Given the description of an element on the screen output the (x, y) to click on. 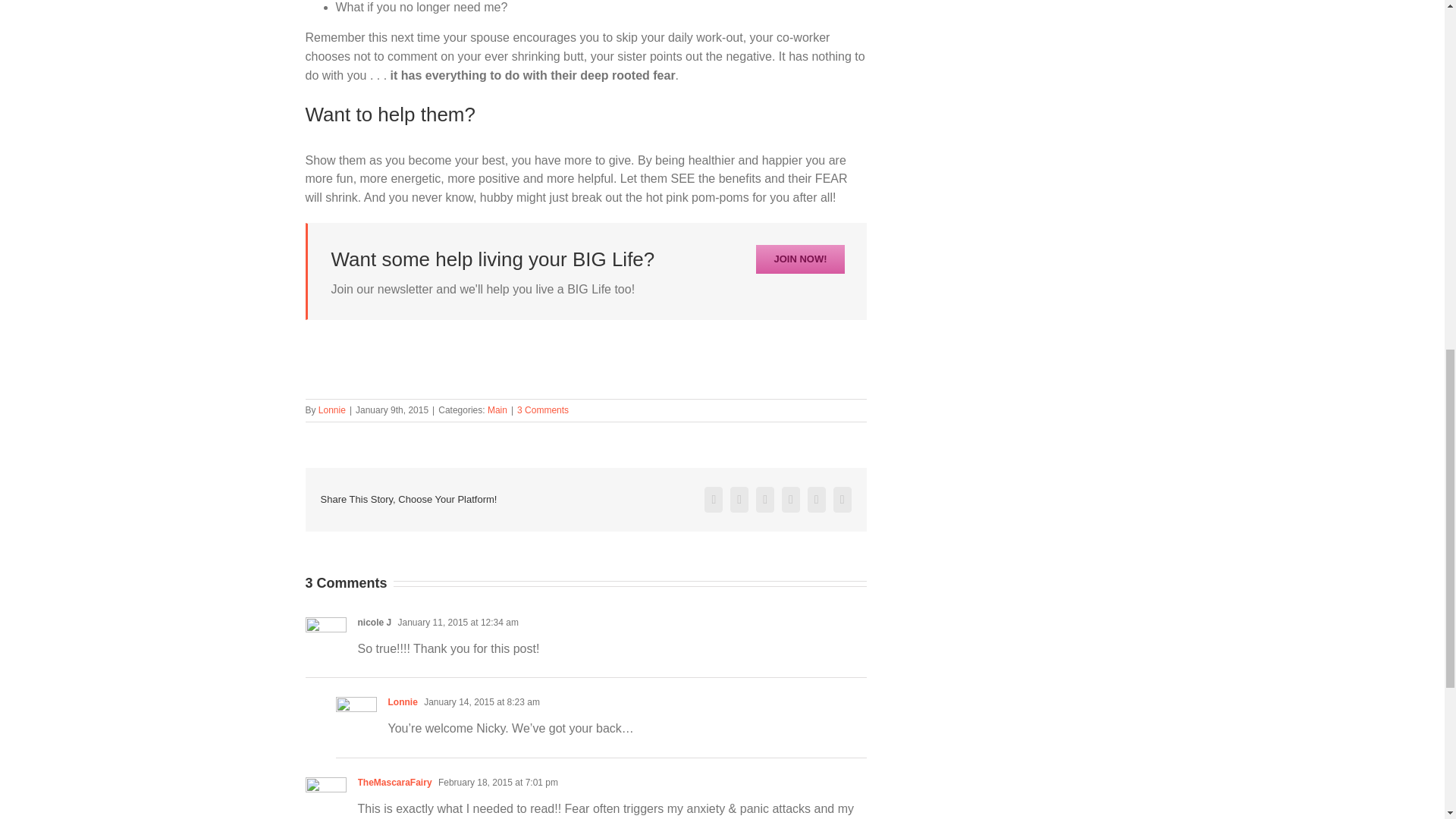
Lonnie (332, 409)
JOIN NOW! (799, 258)
3 Comments (542, 409)
Posts by Lonnie (332, 409)
Lonnie (402, 701)
TheMascaraFairy (395, 782)
Main (496, 409)
